Given the description of an element on the screen output the (x, y) to click on. 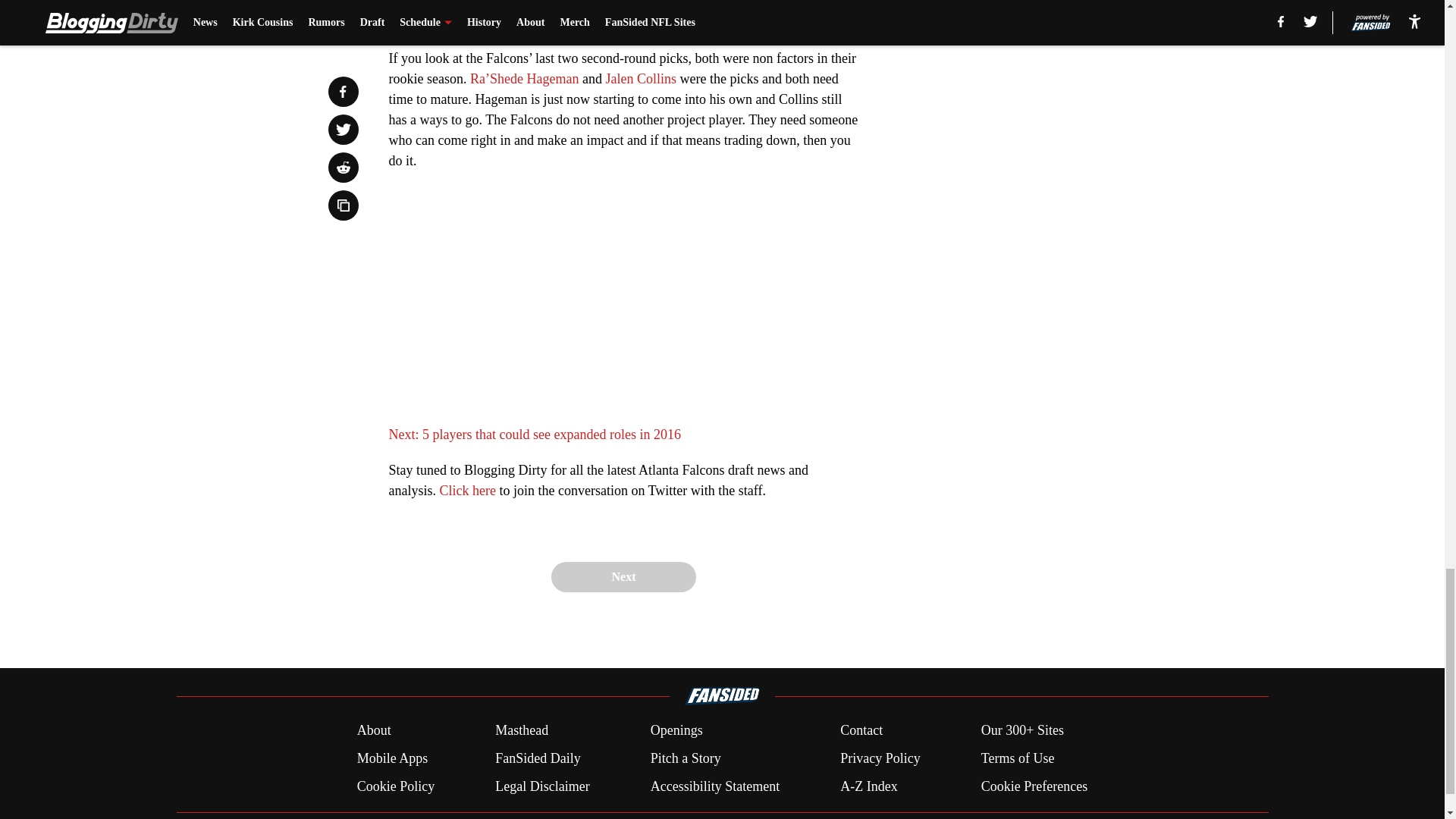
Next: 5 players that could see expanded roles in 2016 (533, 434)
Jalen Collins (641, 78)
Mobile Apps (392, 758)
Masthead (521, 730)
FanSided Daily (537, 758)
Next (622, 576)
Click here (467, 490)
About (373, 730)
Contact (861, 730)
Openings (676, 730)
